Given the description of an element on the screen output the (x, y) to click on. 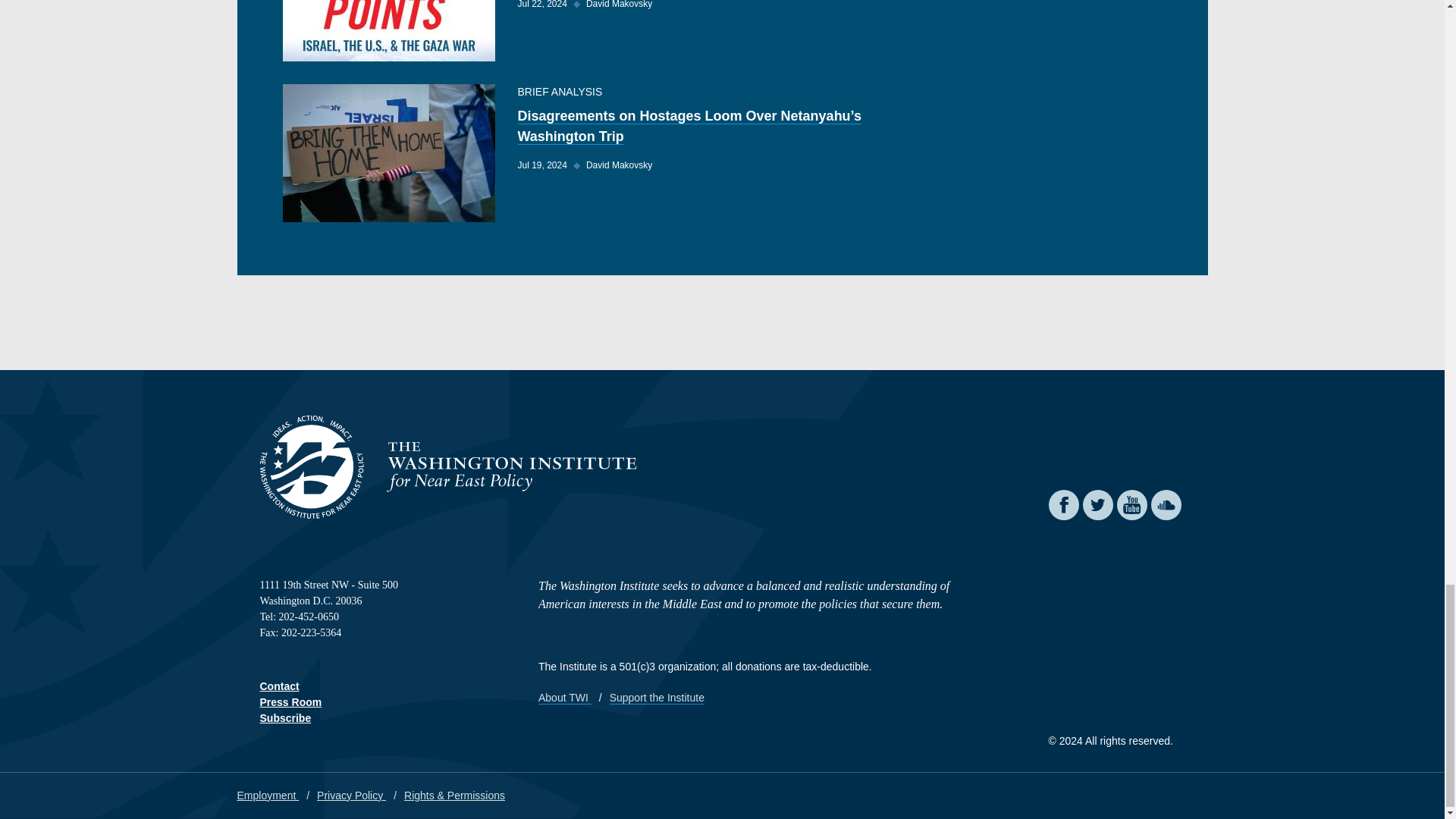
Sign up for email alerts of Institute publications (285, 717)
